Given the description of an element on the screen output the (x, y) to click on. 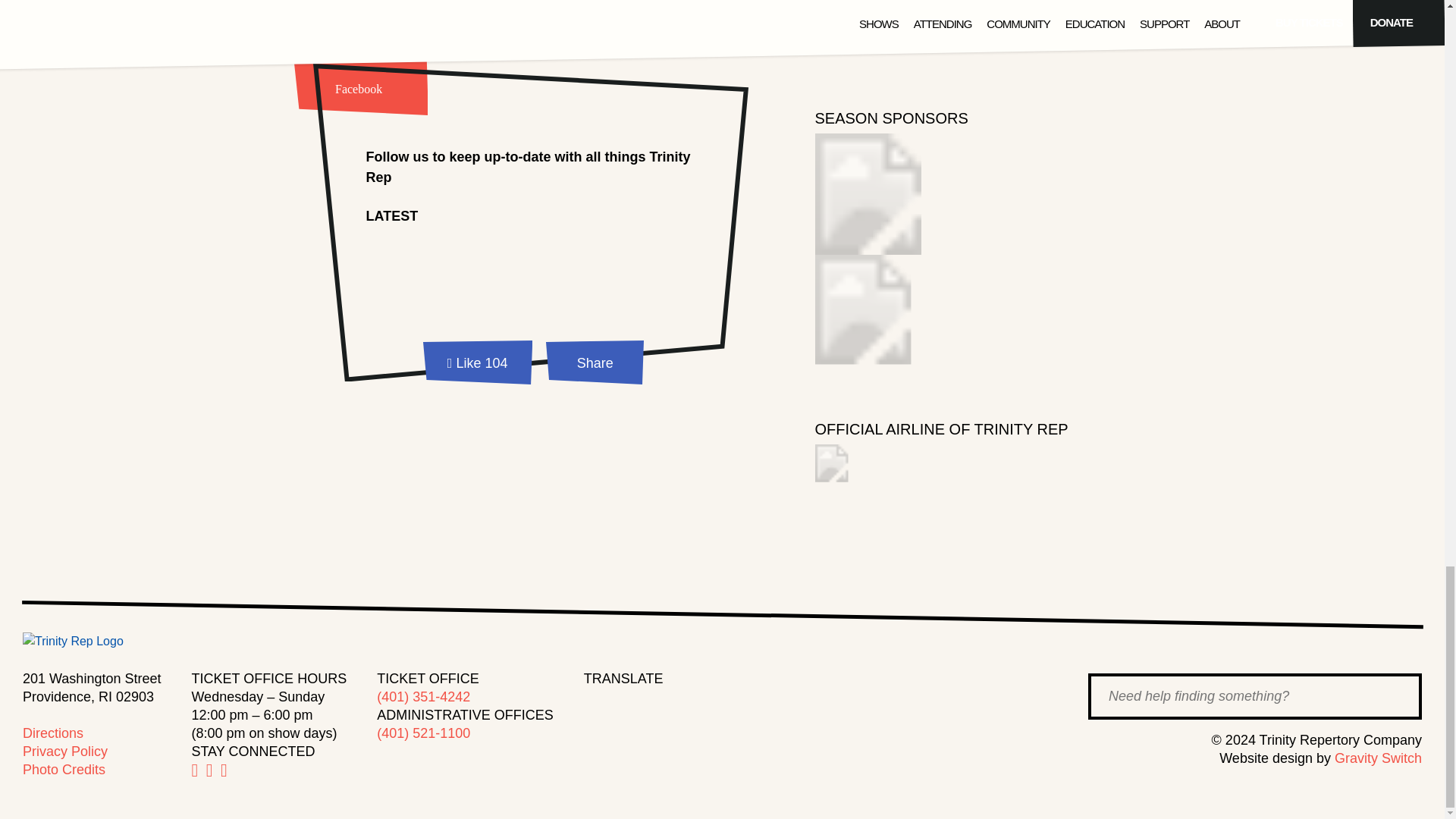
Like 104 (477, 364)
GO (1395, 697)
GO (1395, 697)
Facebook (360, 80)
